Given the description of an element on the screen output the (x, y) to click on. 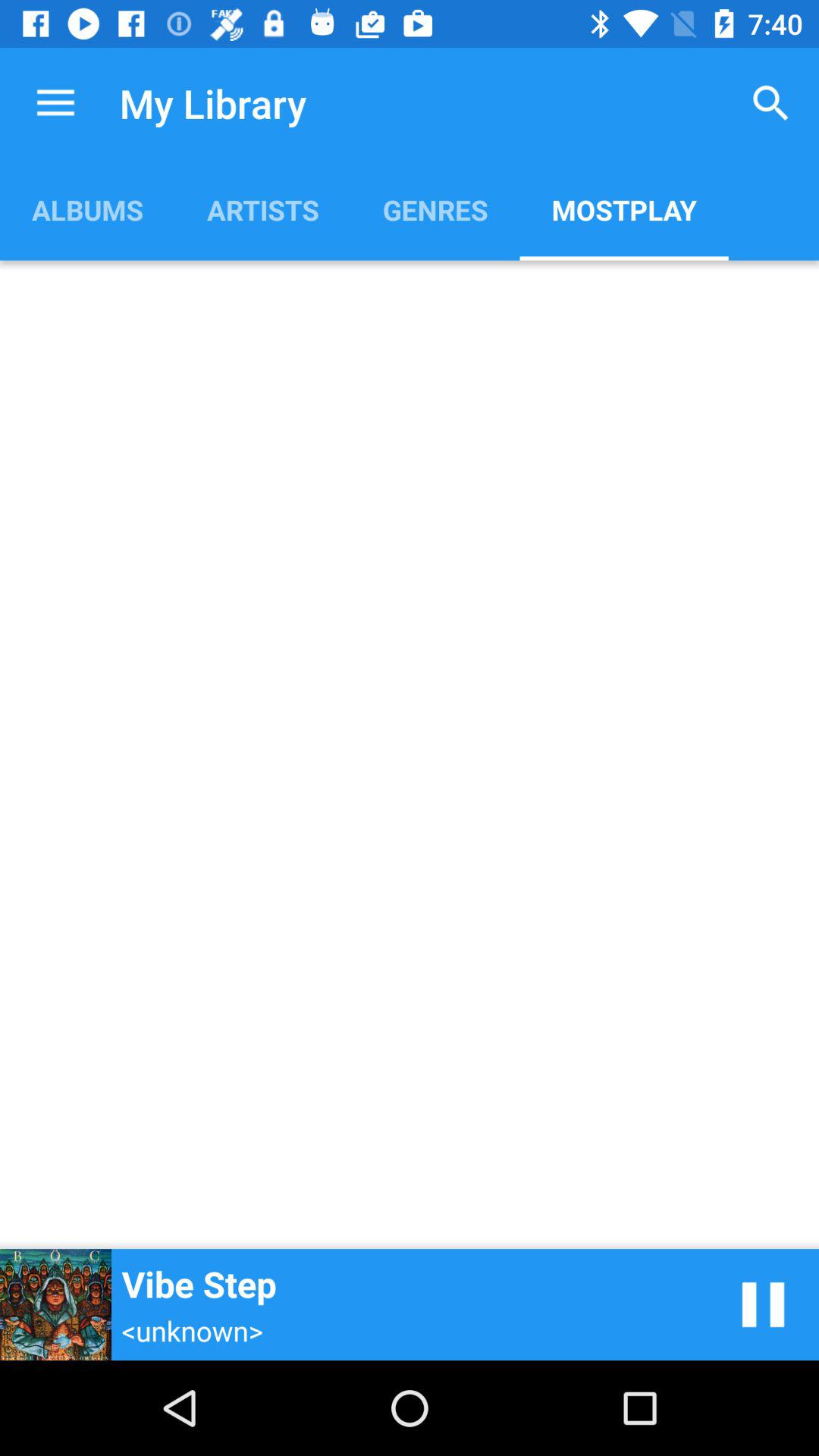
turn on the app below albums item (409, 754)
